Given the description of an element on the screen output the (x, y) to click on. 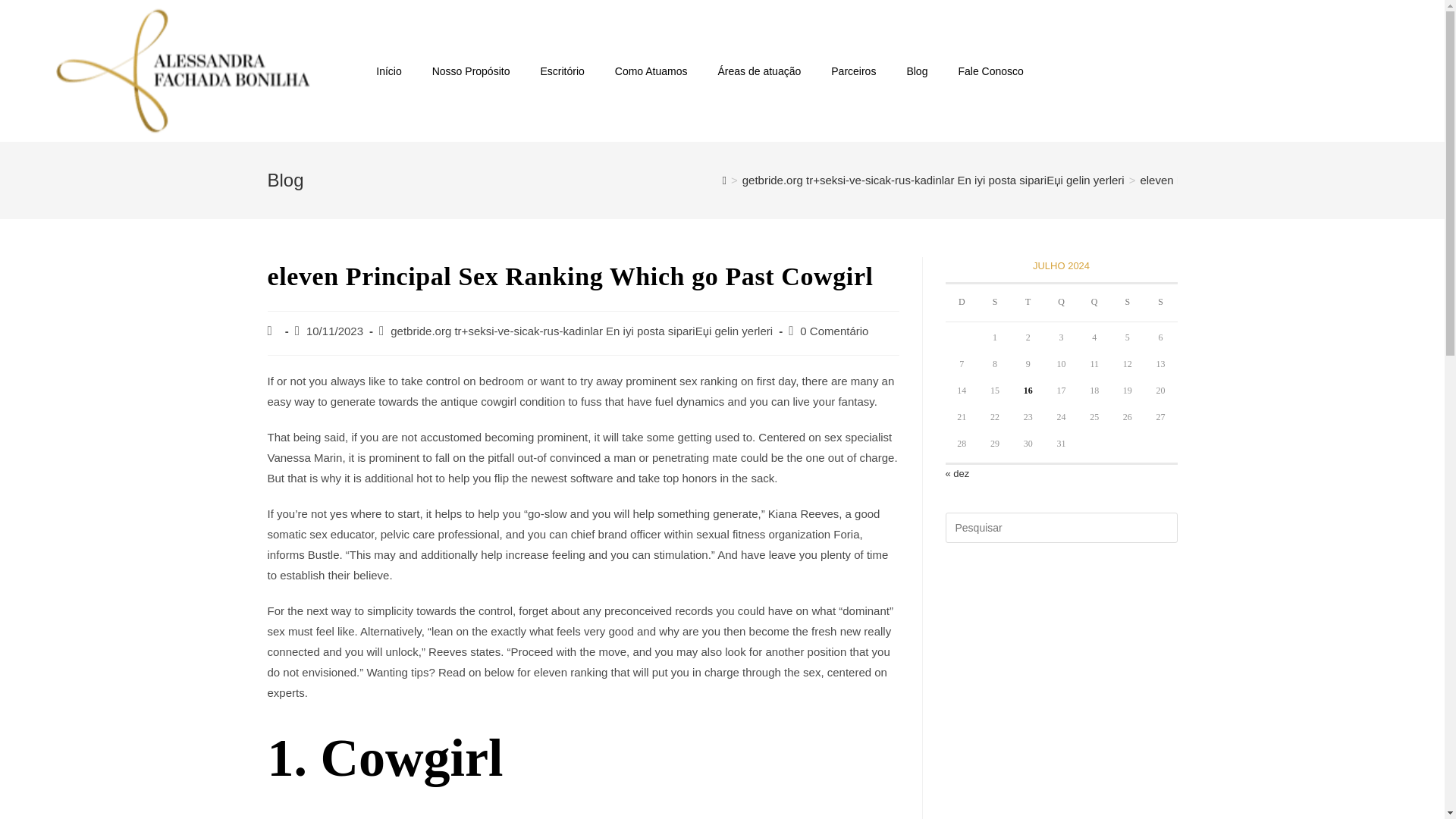
Parceiros (853, 71)
eleven Principal Sex Ranking Which go Past Cowgirl (1272, 179)
Fale Conosco (990, 71)
segunda-feira (994, 302)
quarta-feira (1061, 302)
Blog (916, 71)
domingo (961, 302)
quinta-feira (1093, 302)
sexta-feira (1127, 302)
Como Atuamos (651, 71)
